Given the description of an element on the screen output the (x, y) to click on. 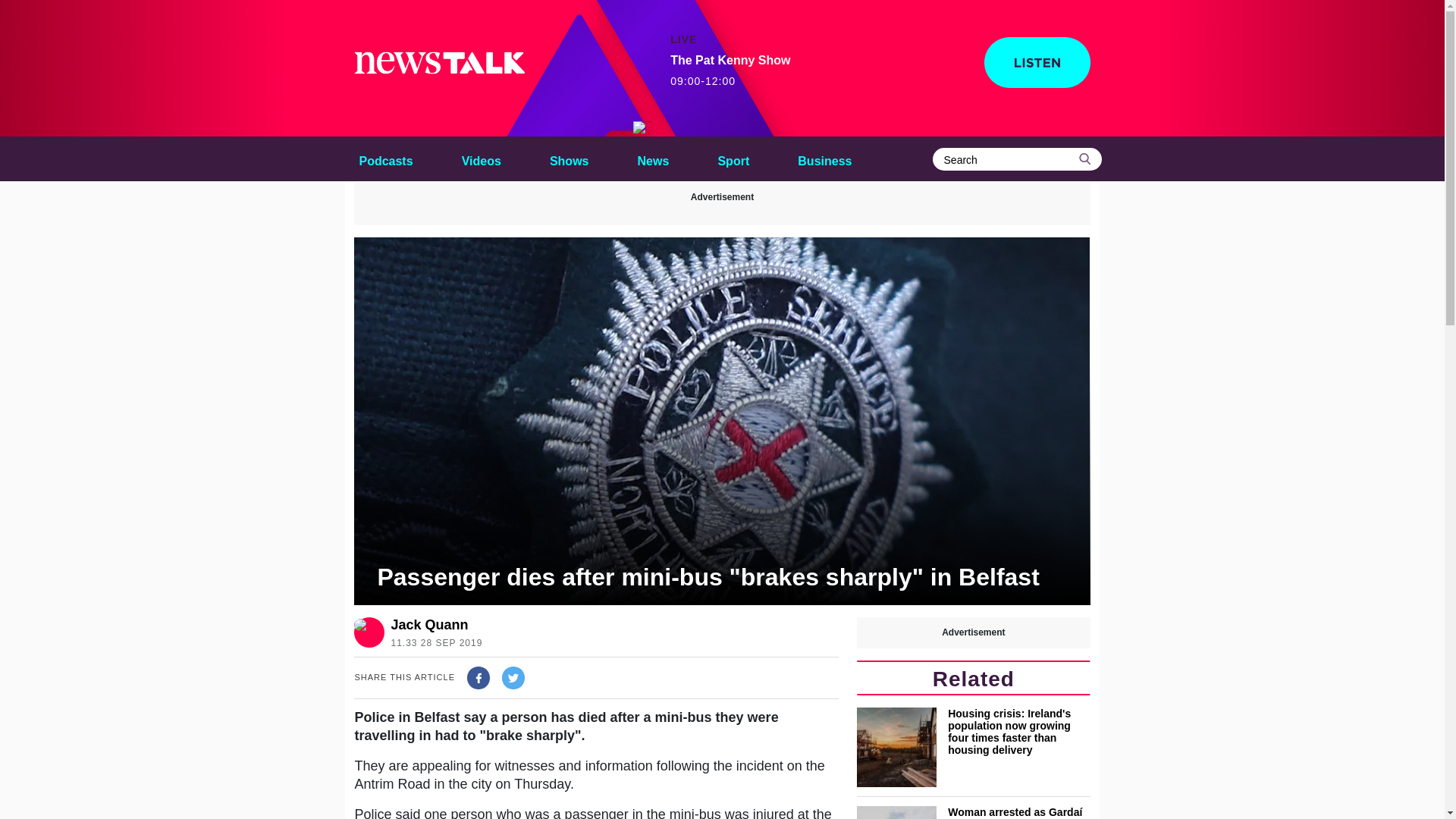
Podcasts (384, 158)
Podcasts (384, 158)
Videos (481, 158)
Videos (481, 158)
Business (824, 158)
Jack Quann (433, 624)
Sport (733, 158)
News (729, 70)
